Given the description of an element on the screen output the (x, y) to click on. 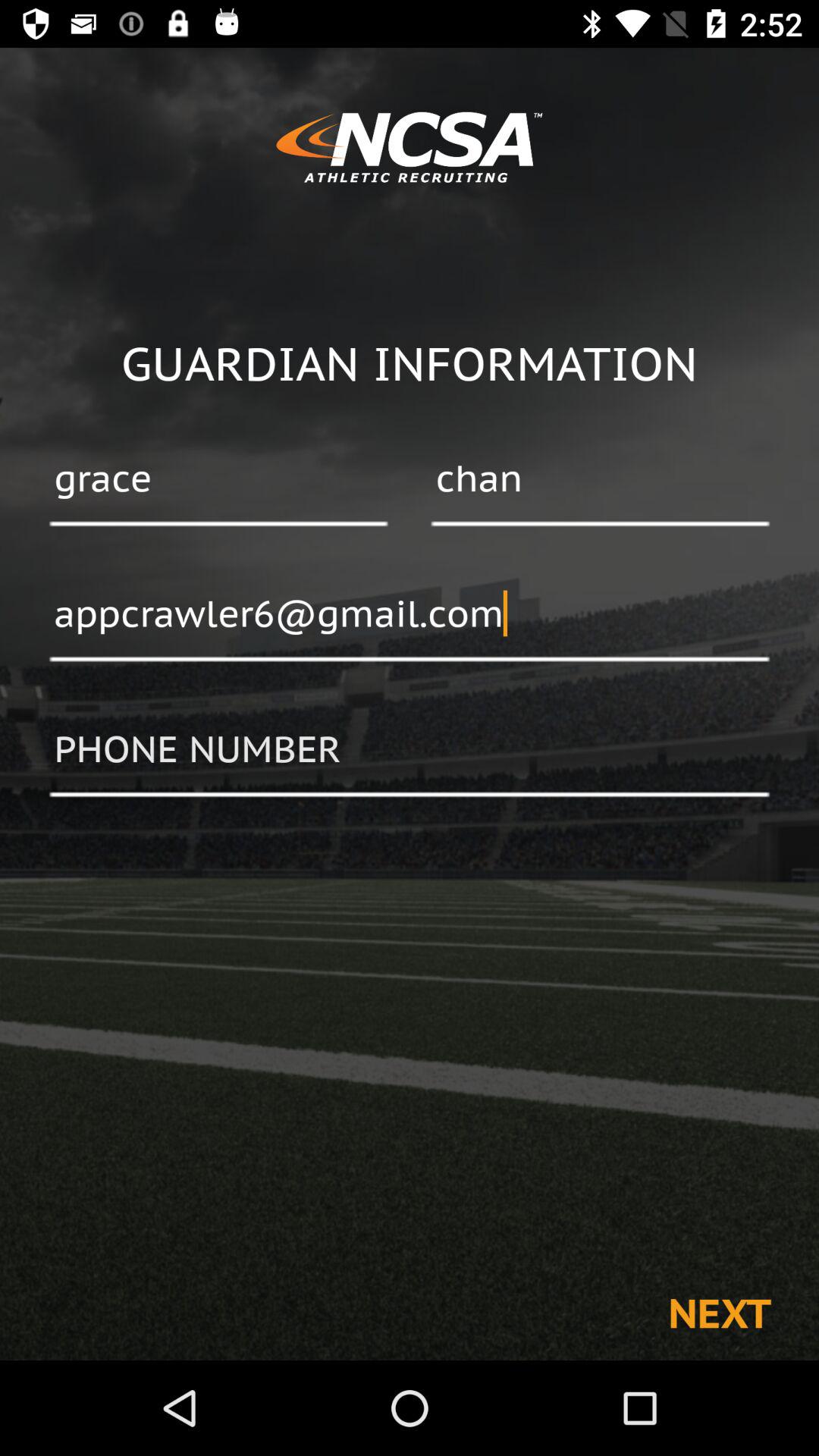
scroll until next item (719, 1312)
